Given the description of an element on the screen output the (x, y) to click on. 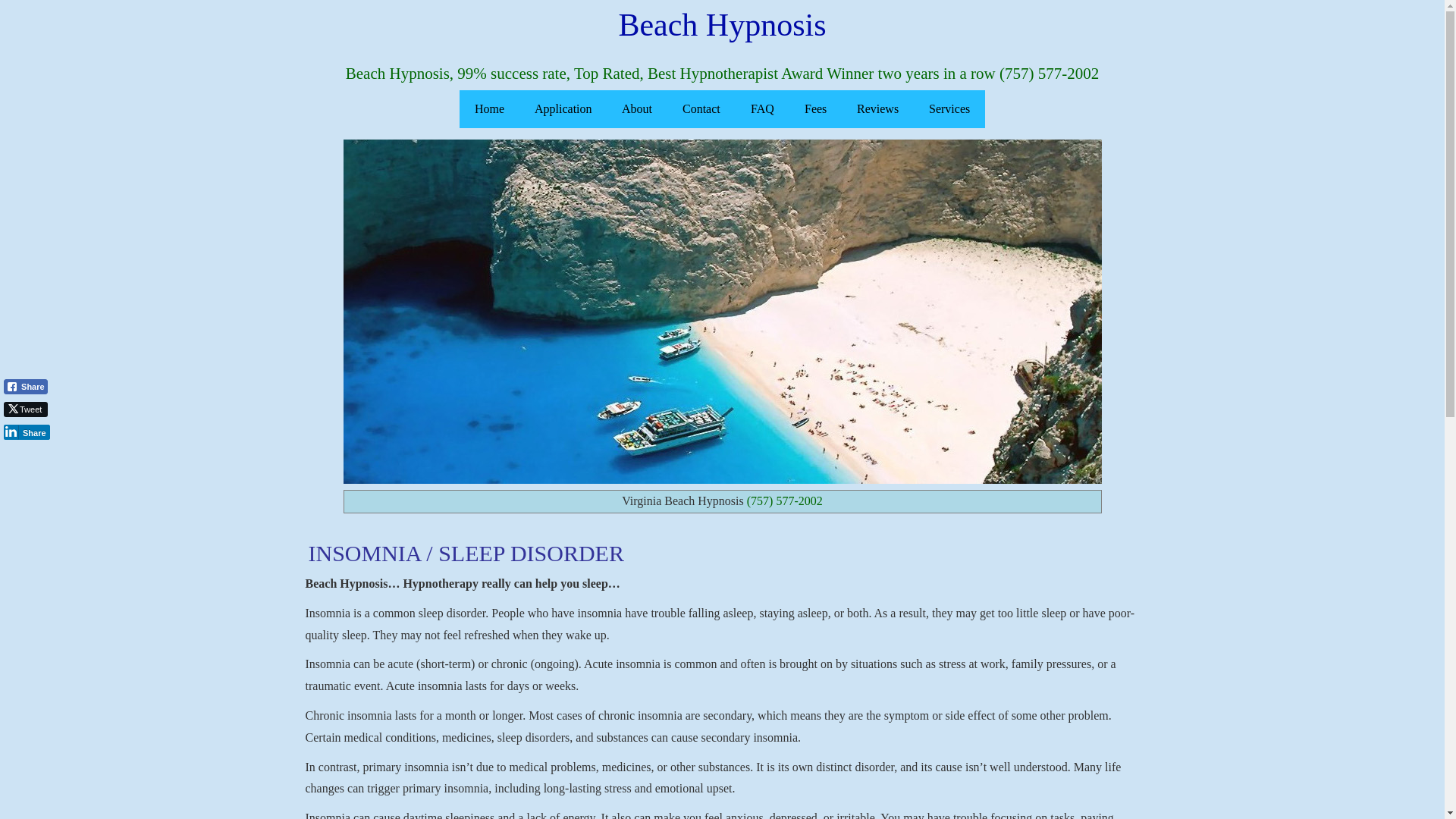
Services (949, 108)
Beach Hypnosis (721, 24)
Tweet (23, 409)
Contact (700, 108)
Share (24, 386)
About (636, 108)
Reviews (877, 108)
FAQ (762, 108)
Application (563, 108)
Share (20, 432)
Fees (815, 108)
Home (489, 108)
